Given the description of an element on the screen output the (x, y) to click on. 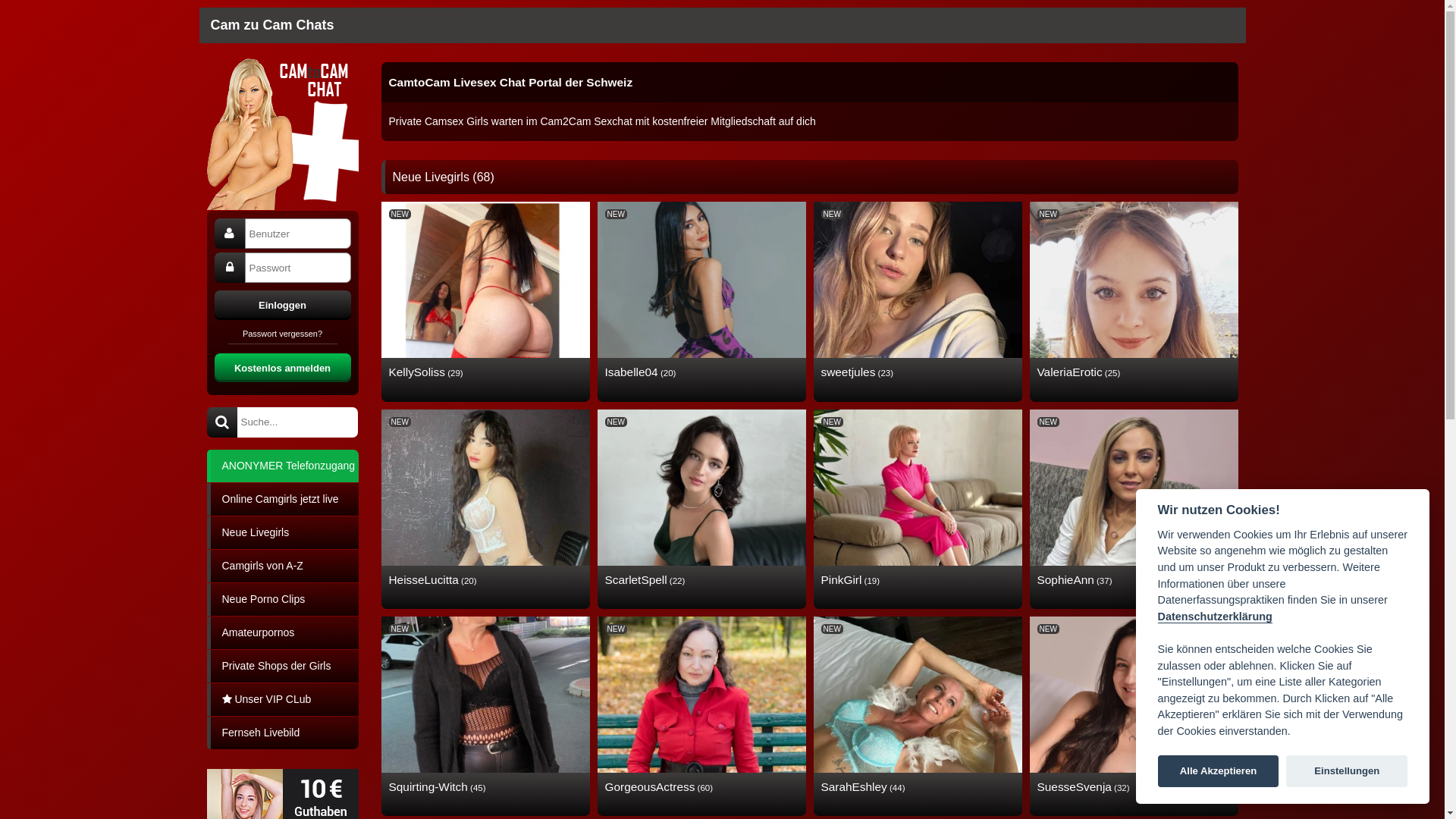
Private Shops der Girls Element type: text (281, 665)
Amateurpornos Element type: text (281, 631)
Neue Porno Clips Element type: text (281, 598)
Neue Livegirls Element type: text (281, 531)
Unser VIP CLub Element type: text (281, 698)
Kostenlos anmelden Element type: text (281, 366)
Cam zu Cam Chats Element type: text (272, 24)
Alle Akzeptieren Element type: text (1218, 771)
Online Camgirls jetzt live Element type: text (281, 498)
Einloggen Element type: text (281, 303)
Einstellungen Element type: text (1346, 771)
Fernseh Livebild Element type: text (281, 731)
Passwort vergessen? Element type: text (281, 335)
ANONYMER Telefonzugang Element type: text (281, 464)
Camgirls von A-Z Element type: text (281, 565)
